Given the description of an element on the screen output the (x, y) to click on. 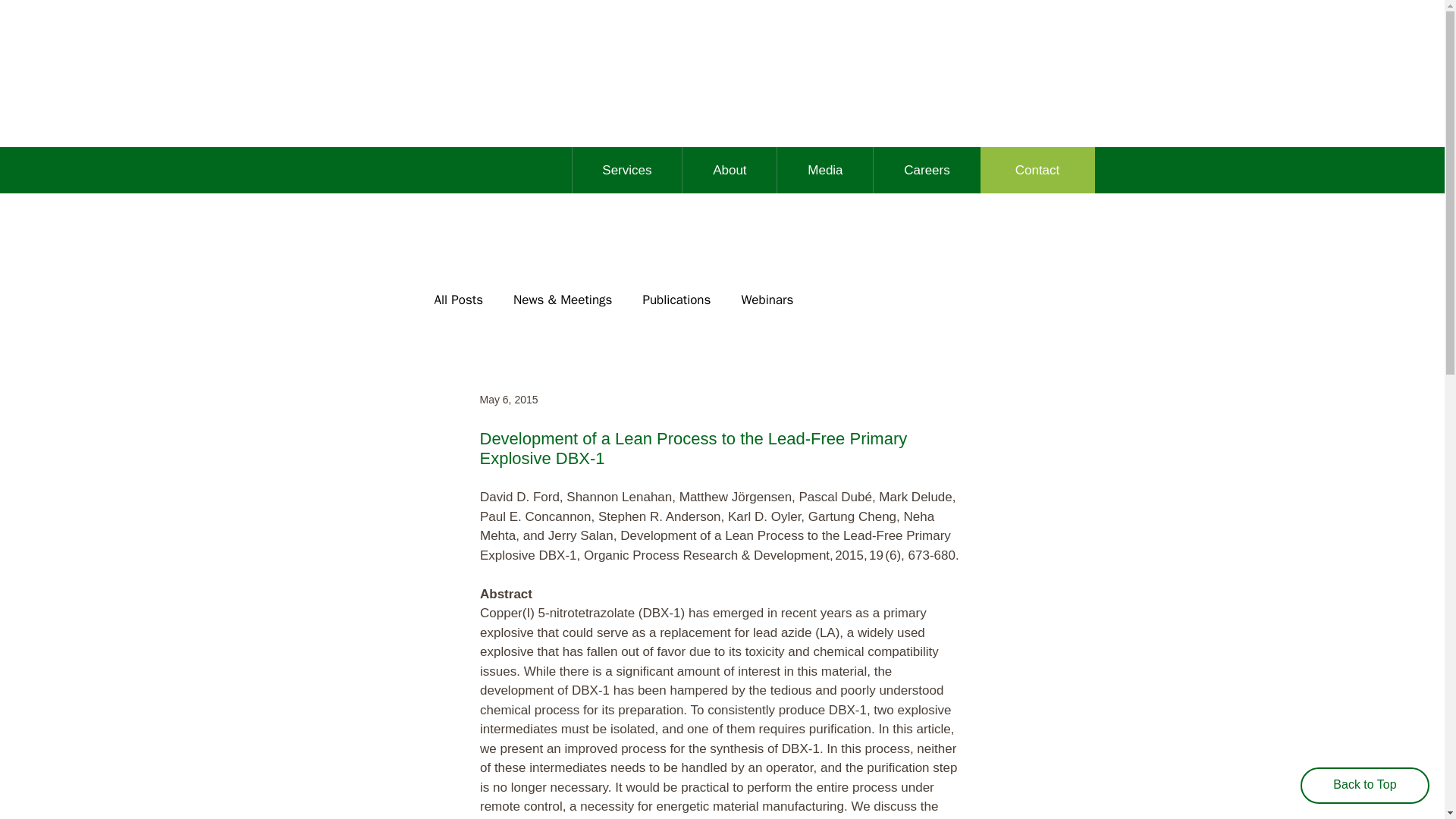
Publications (676, 299)
Services (627, 170)
May 6, 2015 (508, 398)
Contact (1036, 170)
About (728, 170)
Back to Top (776, 170)
All Posts (1364, 785)
Media (458, 299)
Webinars (824, 170)
Careers (767, 299)
